Given the description of an element on the screen output the (x, y) to click on. 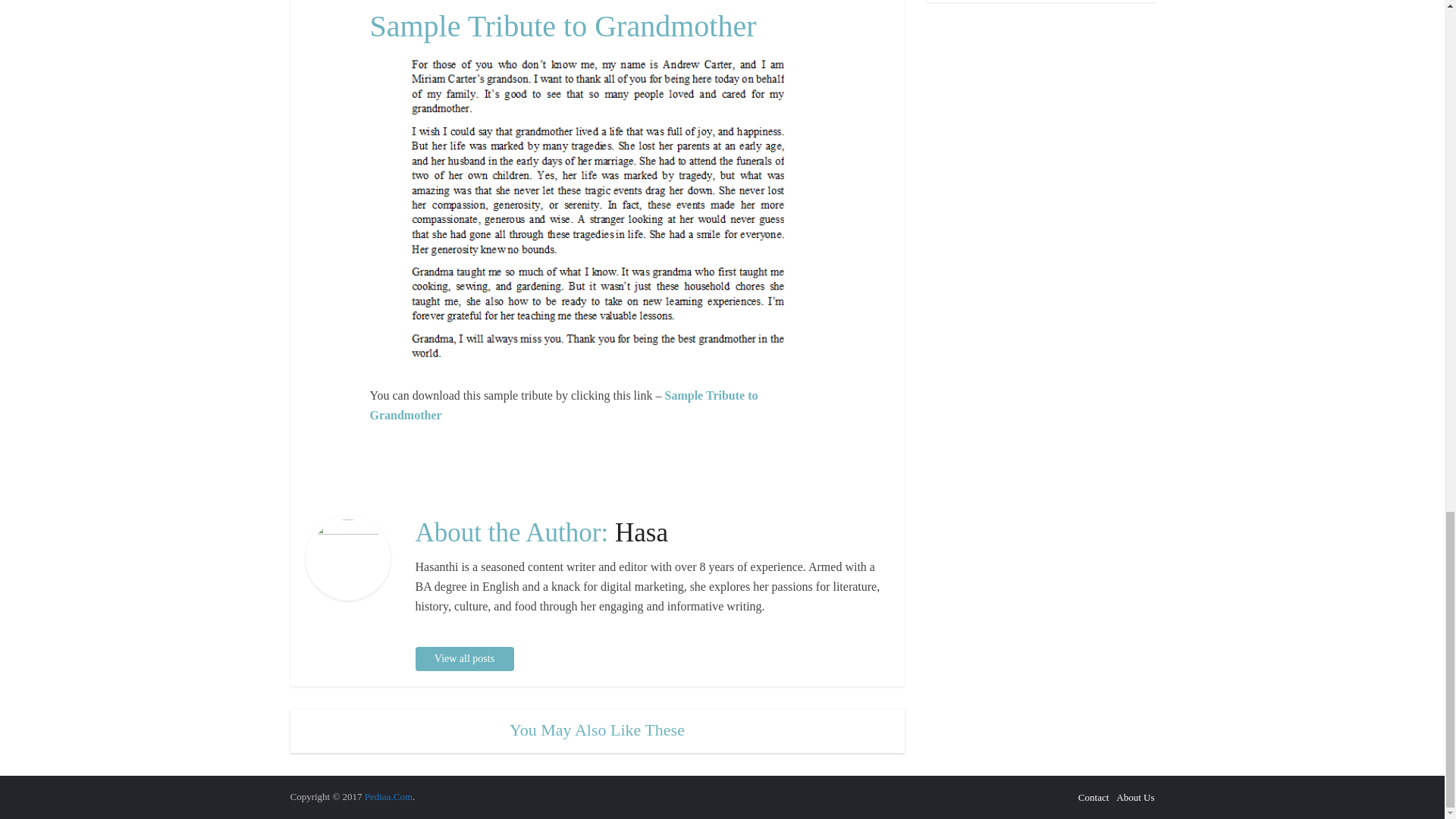
Sample Tribute to Grandmother (563, 405)
Know about Anything (388, 796)
View all posts (463, 658)
